Given the description of an element on the screen output the (x, y) to click on. 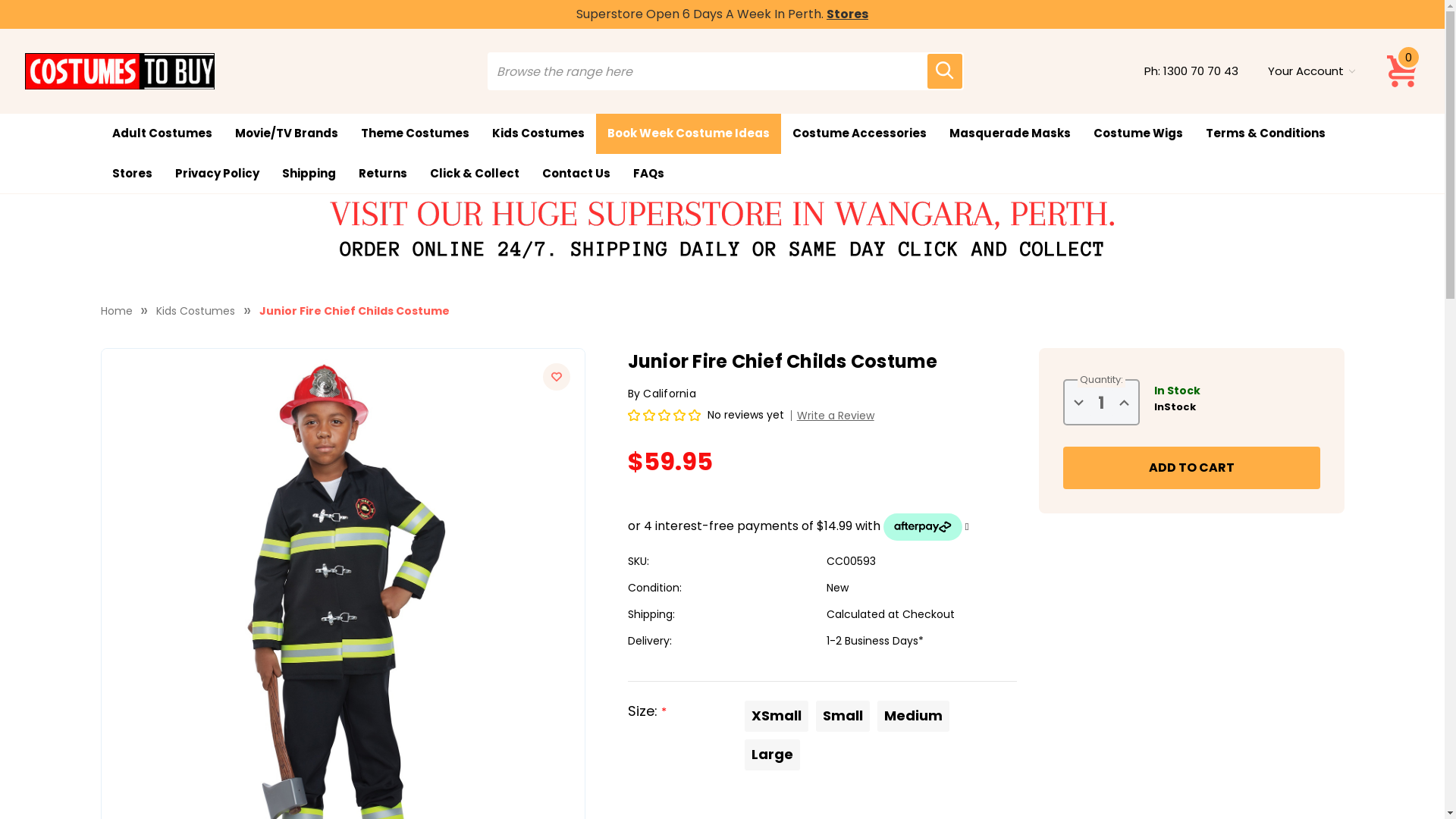
Home Element type: text (115, 310)
Your Account Element type: text (1310, 71)
Contact Us Element type: text (575, 173)
By California Element type: text (661, 393)
Theme Costumes Element type: text (414, 133)
1300 70 70 43 Element type: text (1200, 70)
Masquerade Masks Element type: text (1009, 133)
Add to Cart Element type: text (1191, 467)
Privacy Policy Element type: text (216, 173)
0 Element type: text (1402, 70)
Stores Element type: text (847, 13)
Kids Costumes Element type: text (538, 133)
Stores Element type: text (131, 173)
Costume Accessories Element type: text (859, 133)
Movie/TV Brands Element type: text (285, 133)
Costumes To Buy Element type: hover (118, 71)
Kids Costumes Element type: text (195, 310)
Book Week Costume Ideas Element type: text (688, 133)
Junior Fire Chief Childs Costume Element type: text (354, 310)
Costume Wigs Element type: text (1137, 133)
Write a Review Element type: text (832, 415)
Decrease Quantity of Junior Fire Chief Childs Costume Element type: text (1078, 402)
FAQs Element type: text (648, 173)
Terms & Conditions Element type: text (1264, 133)
Adult Costumes Element type: text (161, 133)
Click & Collect Element type: text (474, 173)
Shipping Element type: text (307, 173)
Returns Element type: text (382, 173)
Increase Quantity of Junior Fire Chief Childs Costume Element type: text (1123, 402)
